Given the description of an element on the screen output the (x, y) to click on. 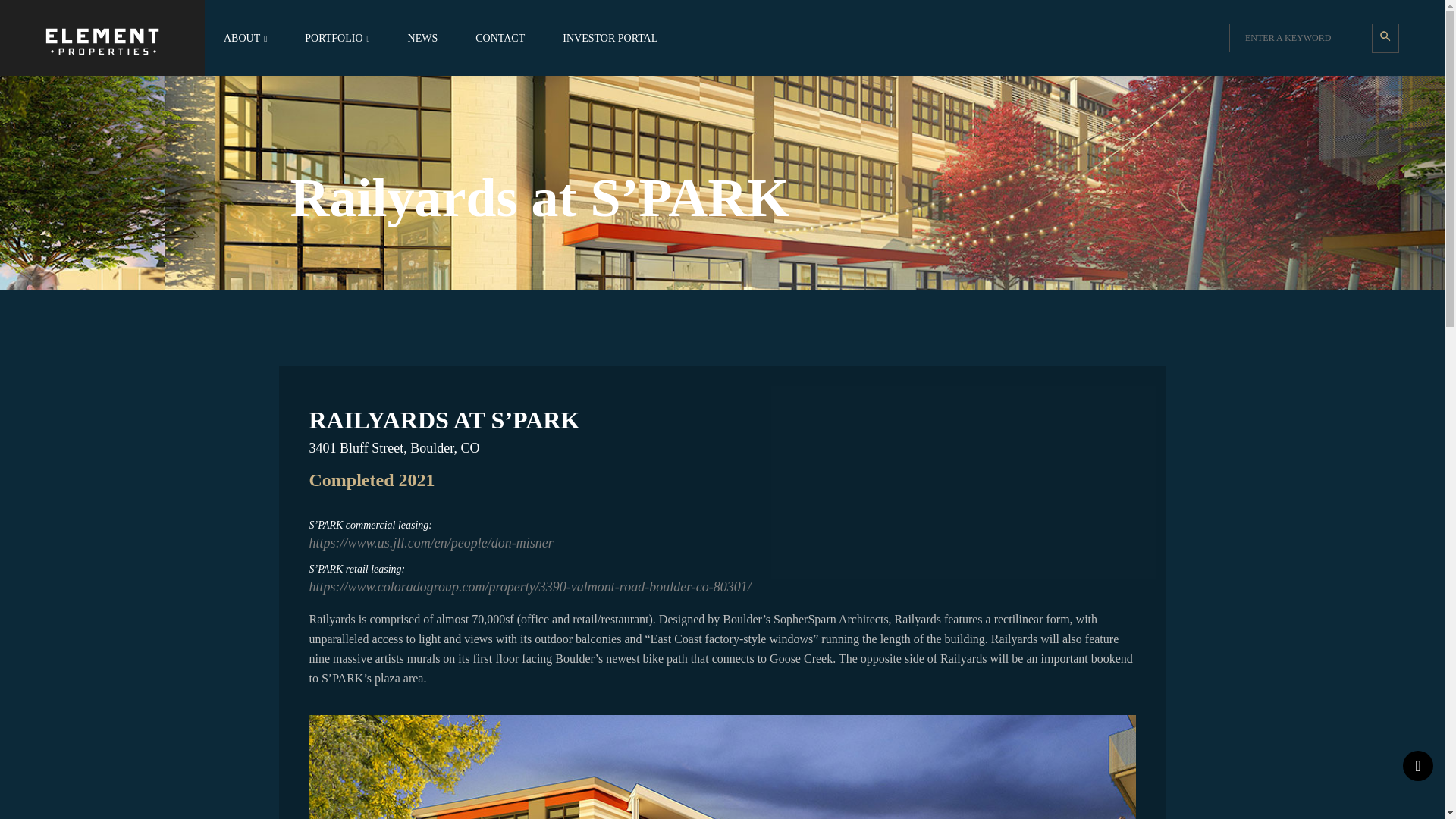
Railyards-at-SPARK-01 (721, 766)
Search Button (1385, 37)
CONTACT (500, 38)
INVESTOR PORTAL (610, 38)
PORTFOLIO (336, 38)
Scroll To Top (1417, 766)
NEWS (422, 38)
ABOUT (245, 38)
